Given the description of an element on the screen output the (x, y) to click on. 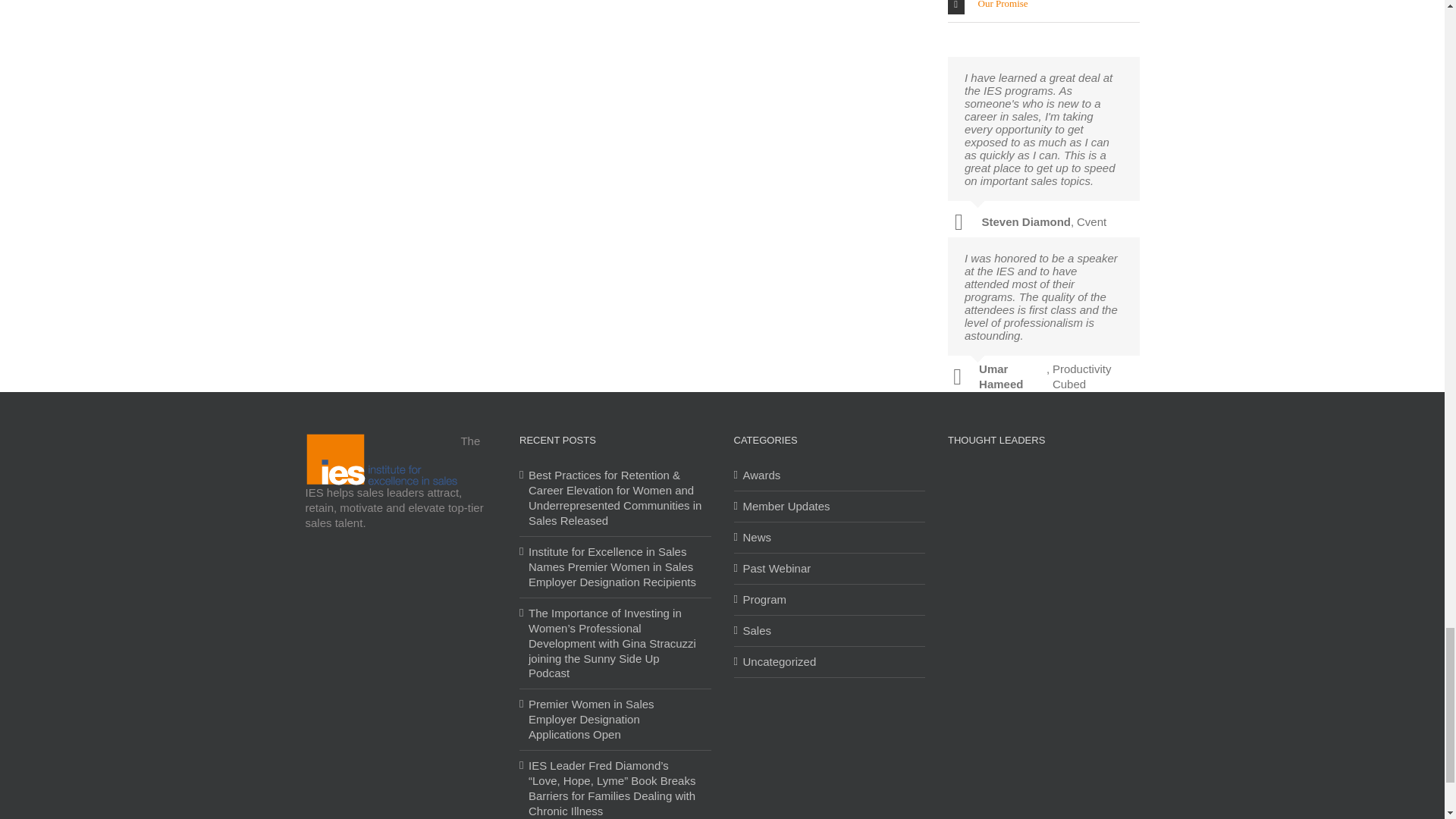
Lauryn Scott (1018, 586)
Joe Ayers (969, 491)
Dave Rey (969, 586)
Alan Stein, Jr. (1067, 586)
Susan Shapero (1018, 491)
Tien Wong (1018, 539)
Vince Burruano (1067, 539)
Alyssa Merwin Henderson (1067, 491)
Robert Greene (1117, 491)
Mayssa Haddad (969, 539)
Jennifer Chronis (1117, 539)
